Given the description of an element on the screen output the (x, y) to click on. 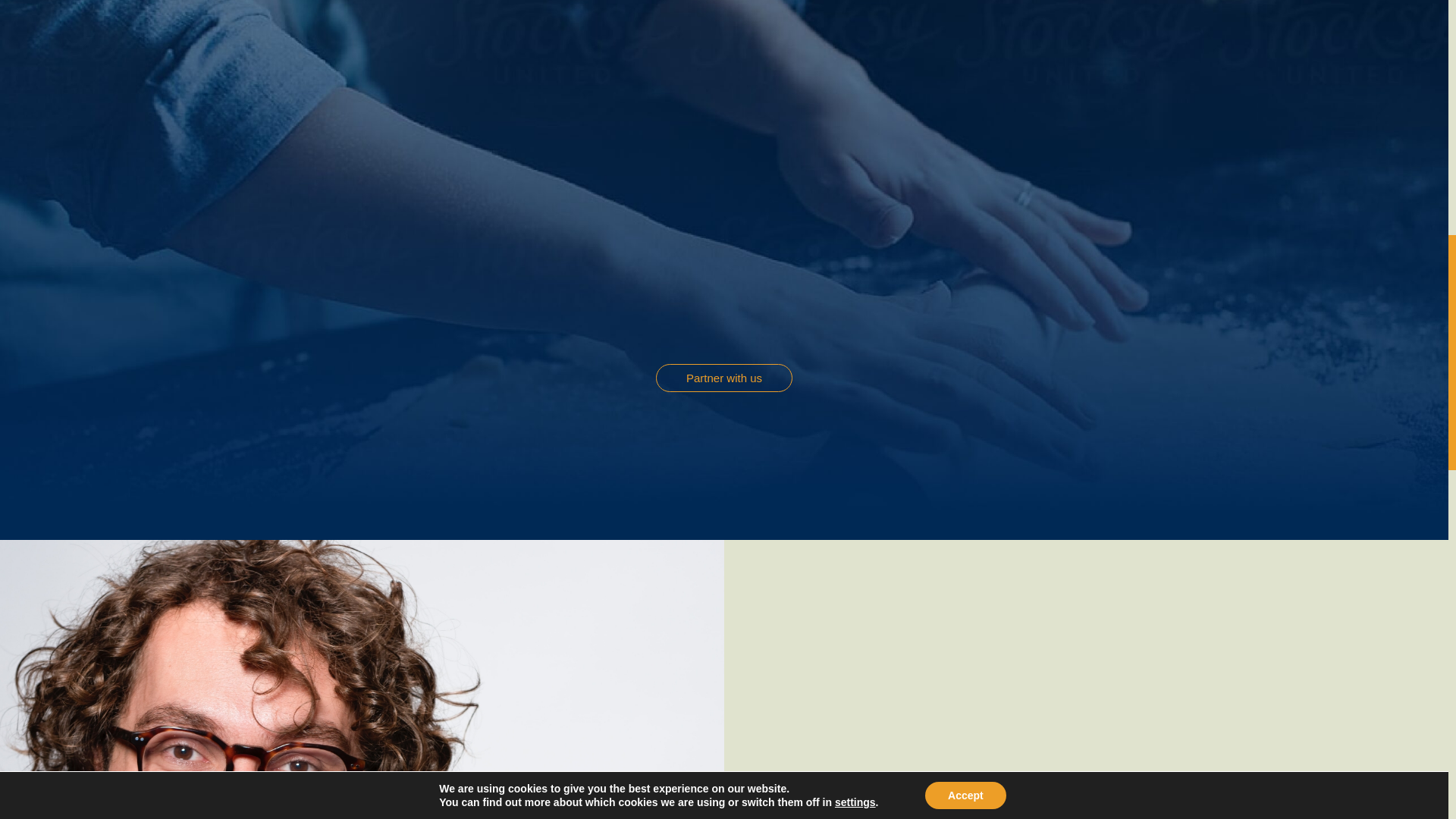
Partner with us (724, 377)
